Given the description of an element on the screen output the (x, y) to click on. 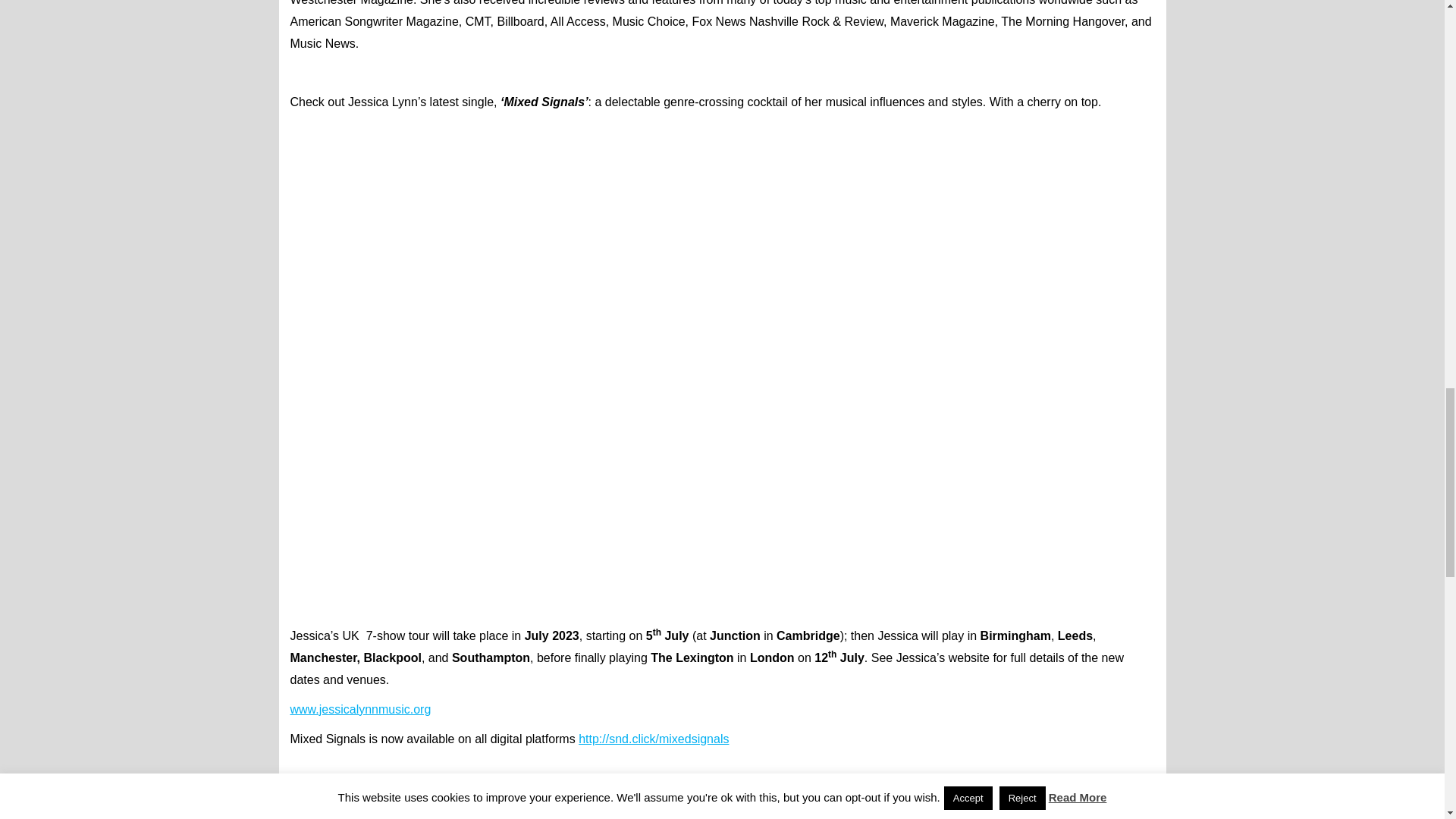
www.jessicalynnmusic.org (359, 708)
